Given the description of an element on the screen output the (x, y) to click on. 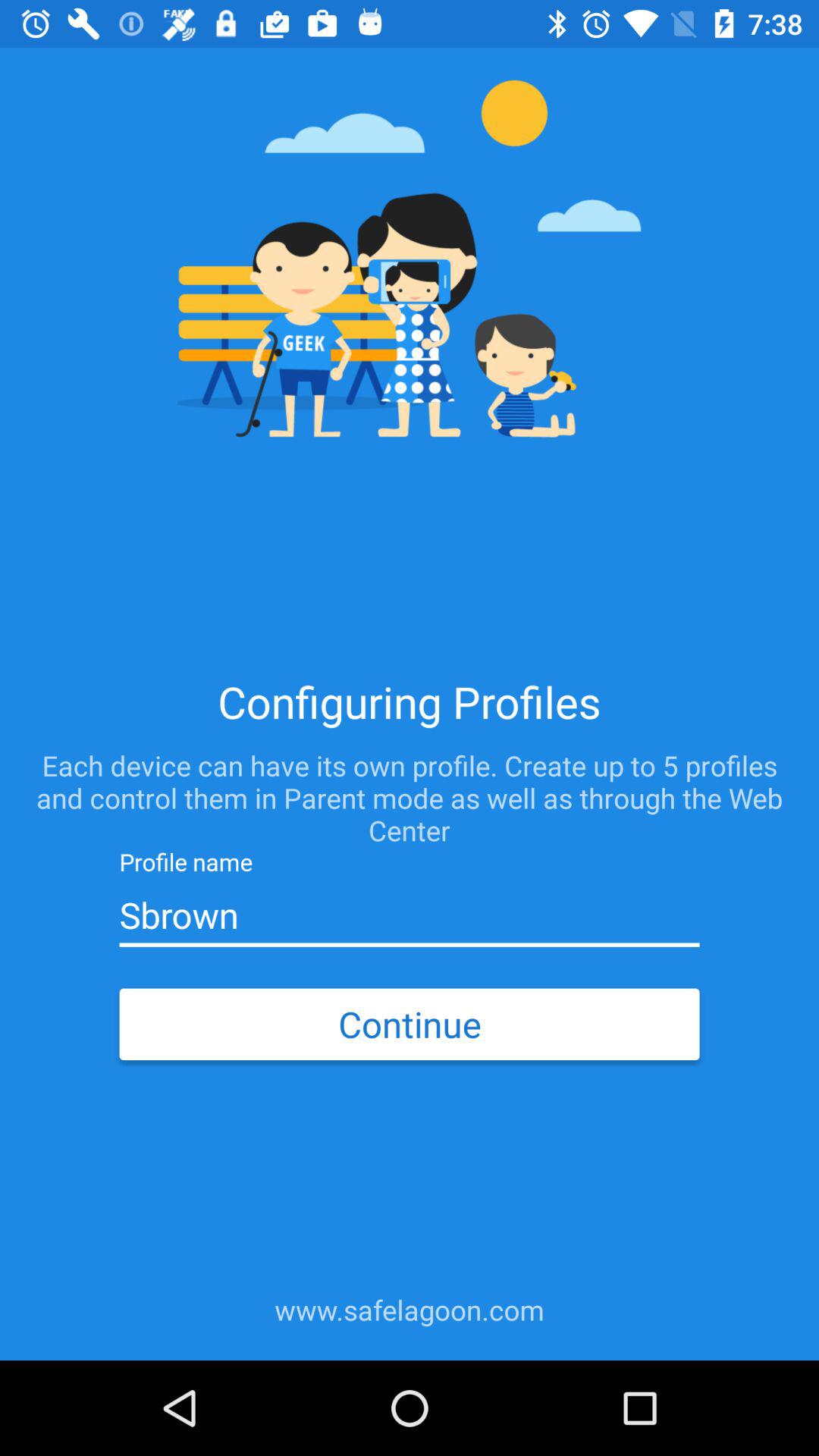
jump until sbrown item (409, 915)
